Given the description of an element on the screen output the (x, y) to click on. 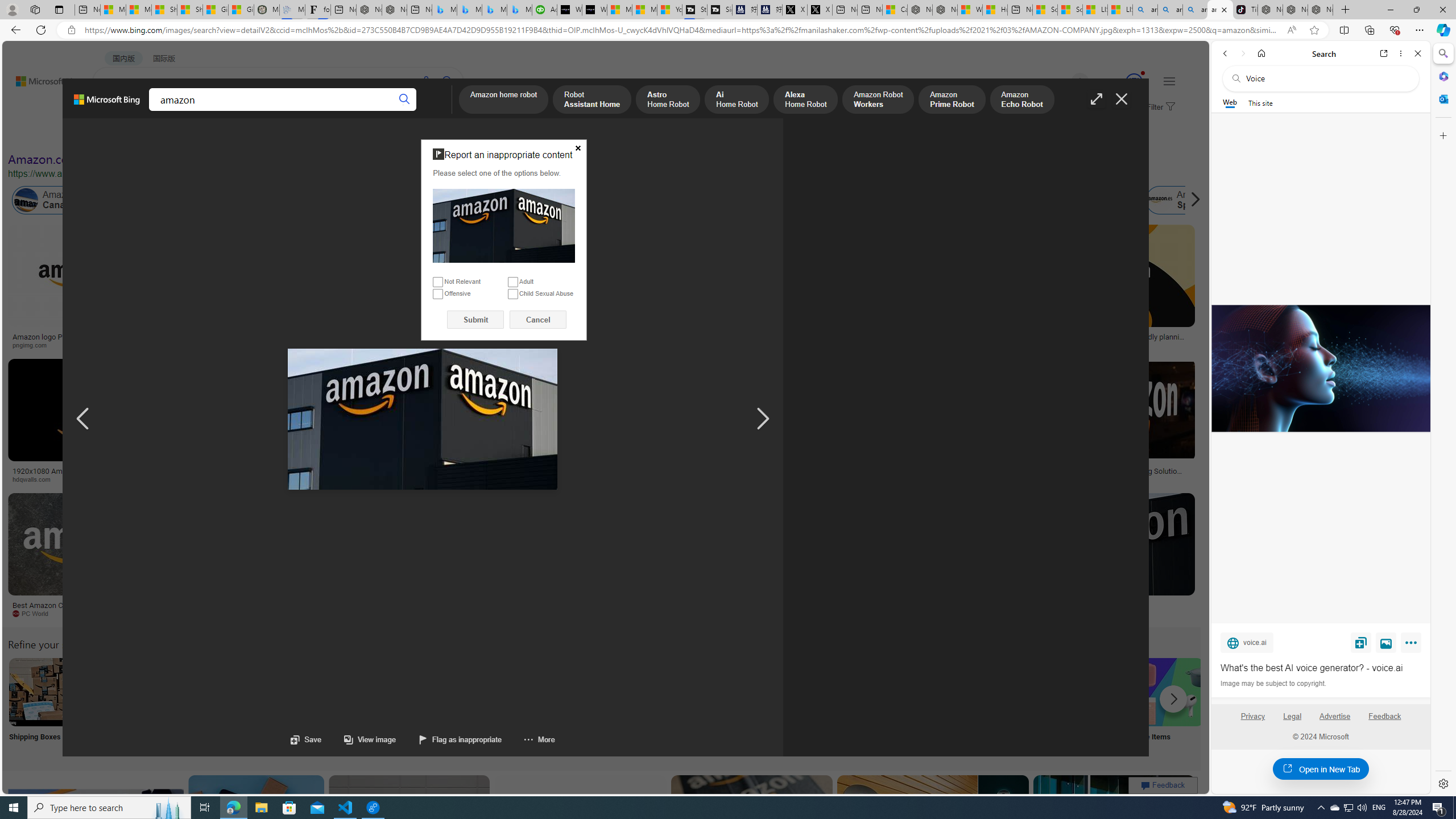
Amazon Mini TV (794, 691)
Amazon Shipping Boxes Shipping Boxes (42, 706)
Wish List (568, 706)
hdqwalls.com (35, 479)
Amazon Prime Shopping Online Prime Shopping Online (944, 706)
Gilma and Hector both pose tropical trouble for Hawaii (241, 9)
Color (173, 135)
What's the best AI voice generator? - voice.ai (593, 9)
Amazon Clip Art (192, 691)
Amazon.com.au (923, 199)
Amazon Canada Online (65, 199)
